Given the description of an element on the screen output the (x, y) to click on. 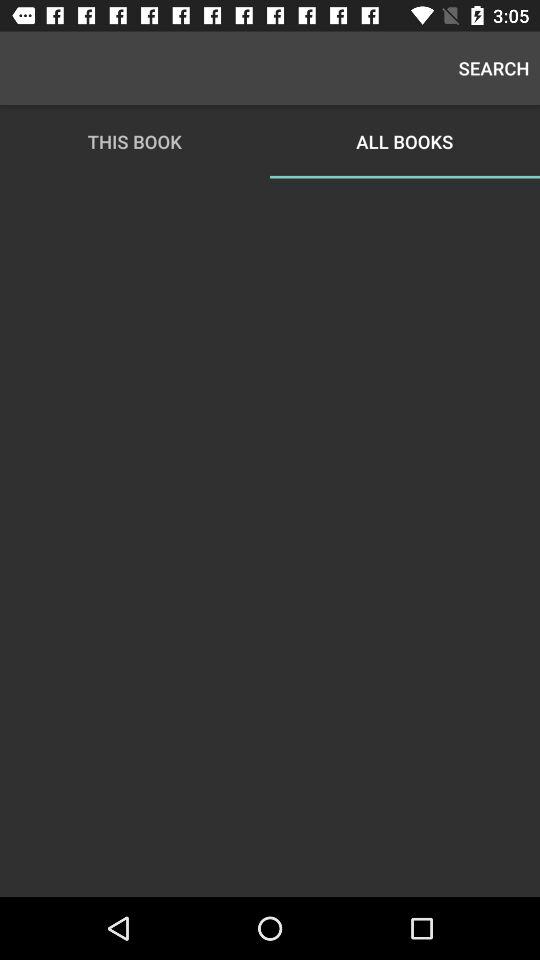
swipe until the search item (494, 67)
